Given the description of an element on the screen output the (x, y) to click on. 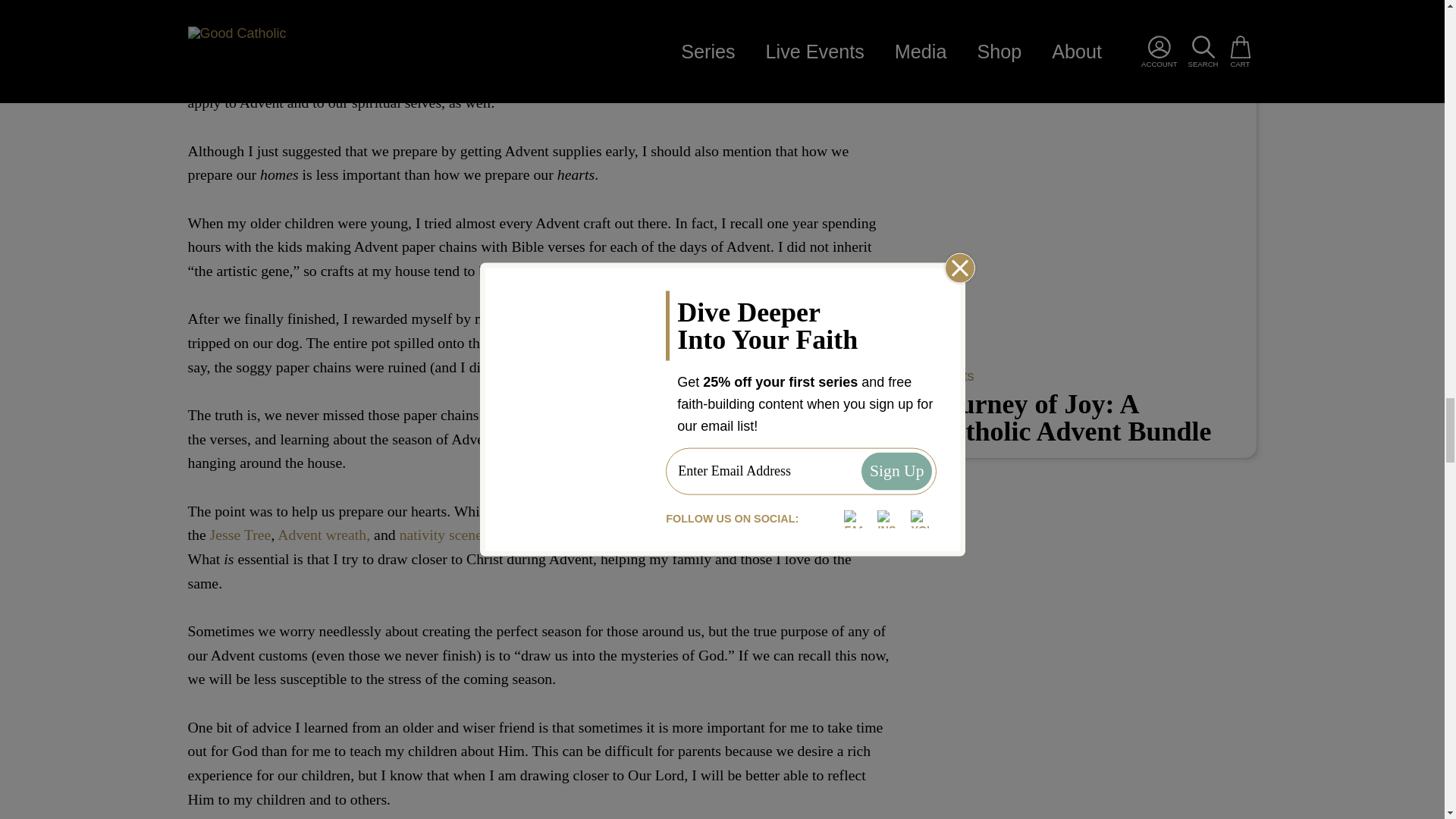
Advent wreath, (323, 534)
nativity scenes (445, 534)
Jesse Tree (238, 534)
